Given the description of an element on the screen output the (x, y) to click on. 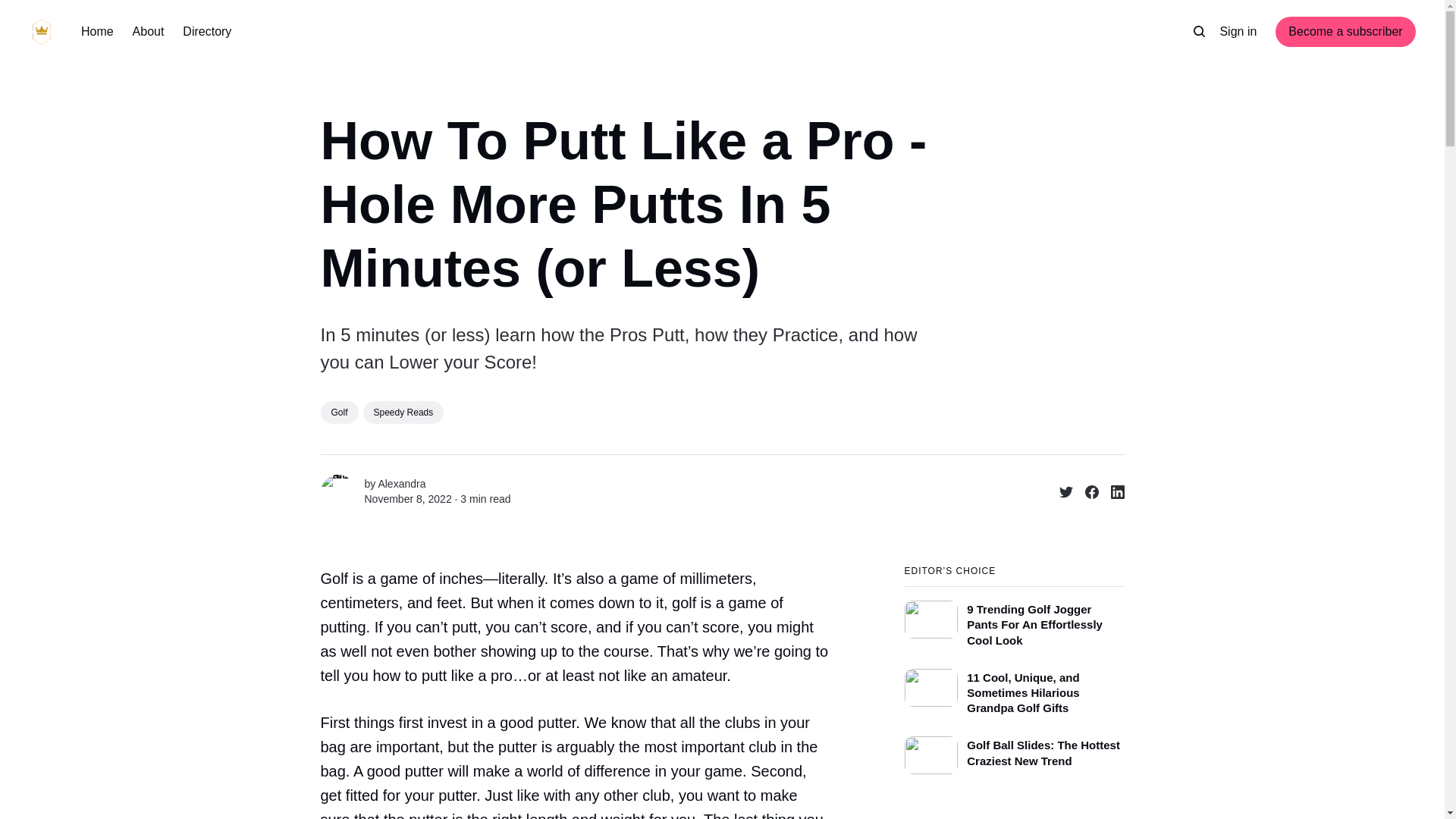
Become a subscriber (1345, 31)
11 Cool, Unique, and Sometimes Hilarious Grandpa Golf Gifts (1014, 688)
About (148, 31)
Sign in (1238, 31)
Alexandra (401, 483)
9 Trending Golf Jogger Pants For An Effortlessly Cool Look (1014, 617)
Speedy Reads (403, 412)
Golf Ball Slides: The Hottest Craziest New Trend (1014, 751)
Home (97, 31)
Golf (339, 412)
